Given the description of an element on the screen output the (x, y) to click on. 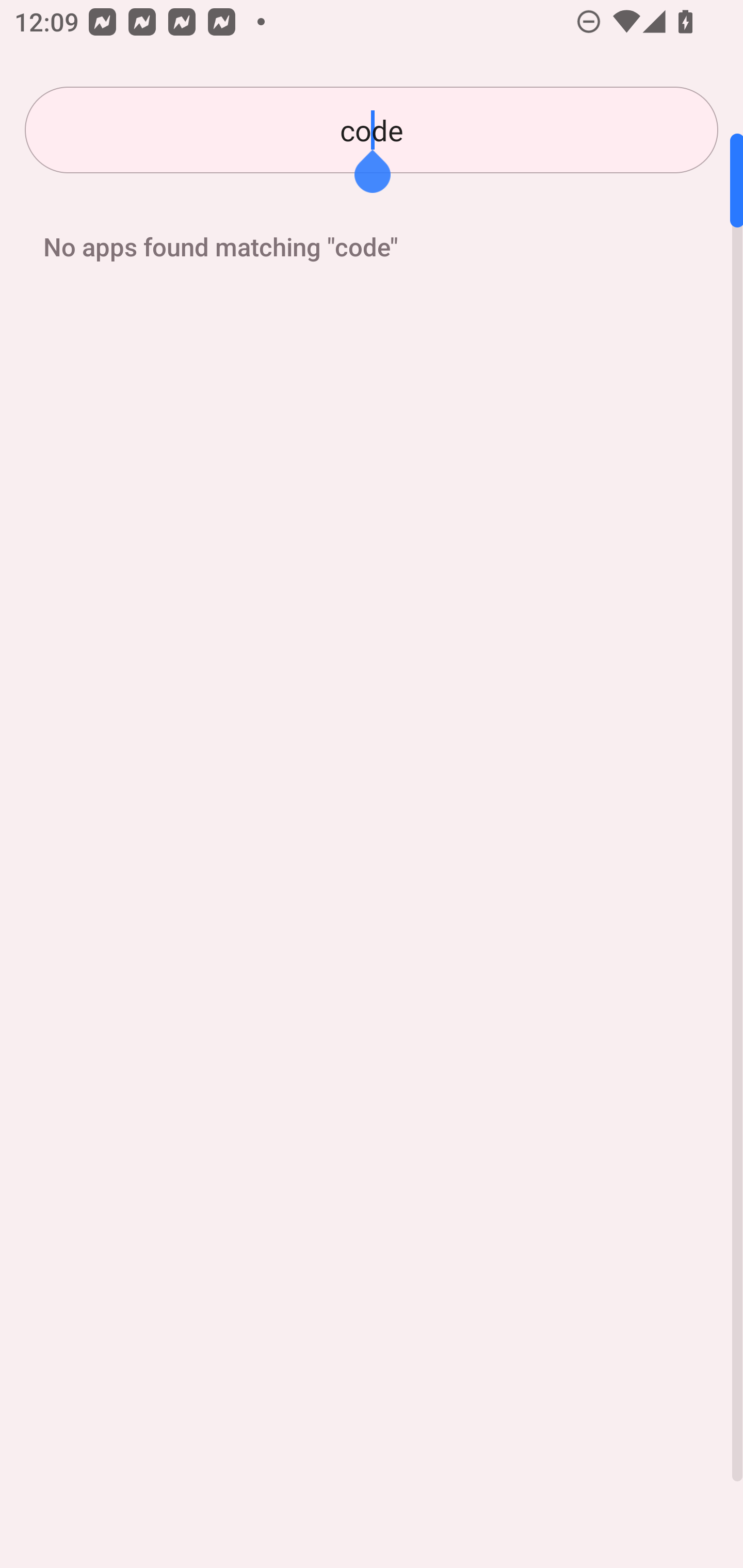
code (371, 130)
